Given the description of an element on the screen output the (x, y) to click on. 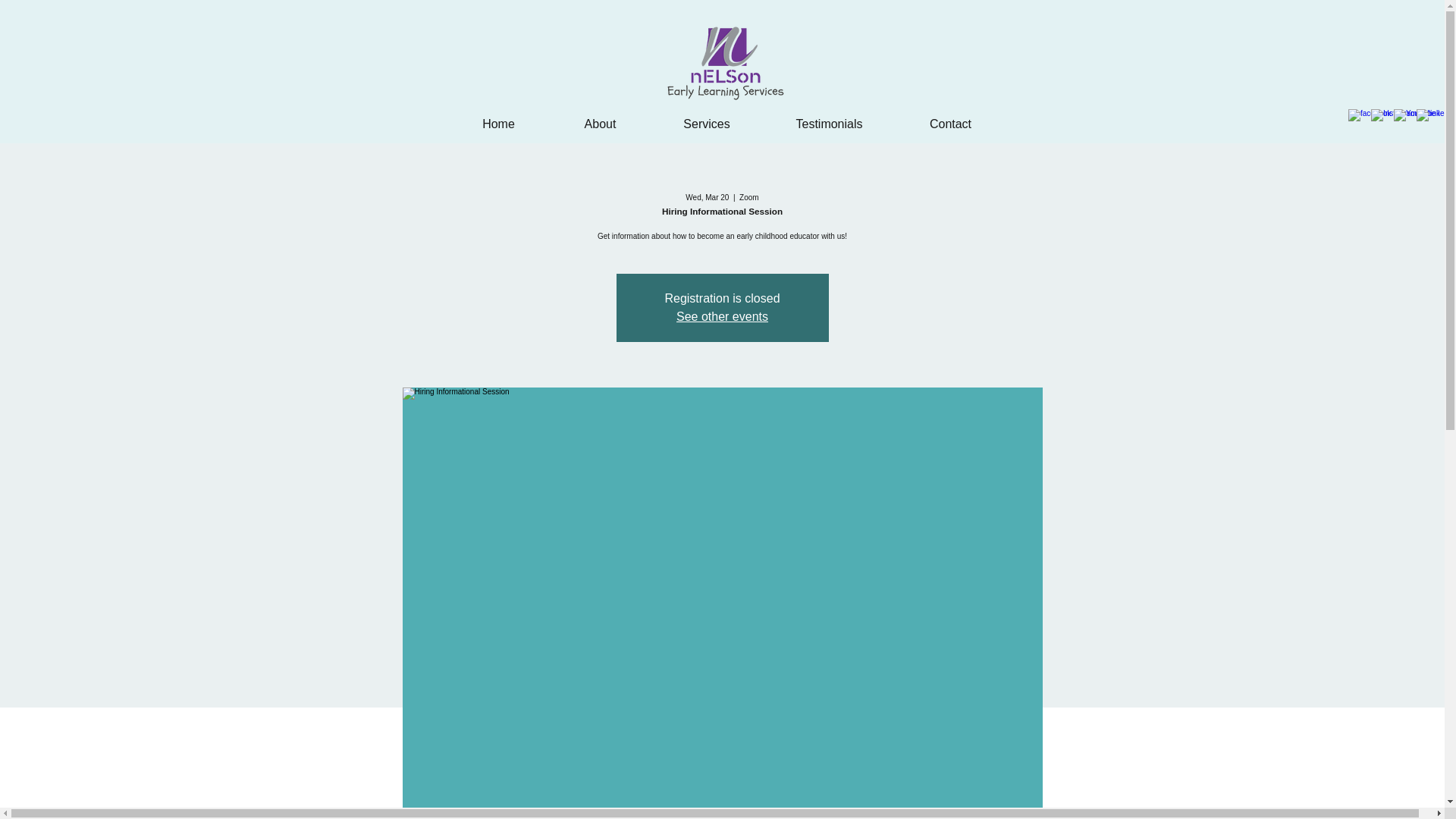
See other events (722, 316)
Contact (951, 117)
Home (497, 117)
About (599, 117)
Testimonials (829, 117)
